Given the description of an element on the screen output the (x, y) to click on. 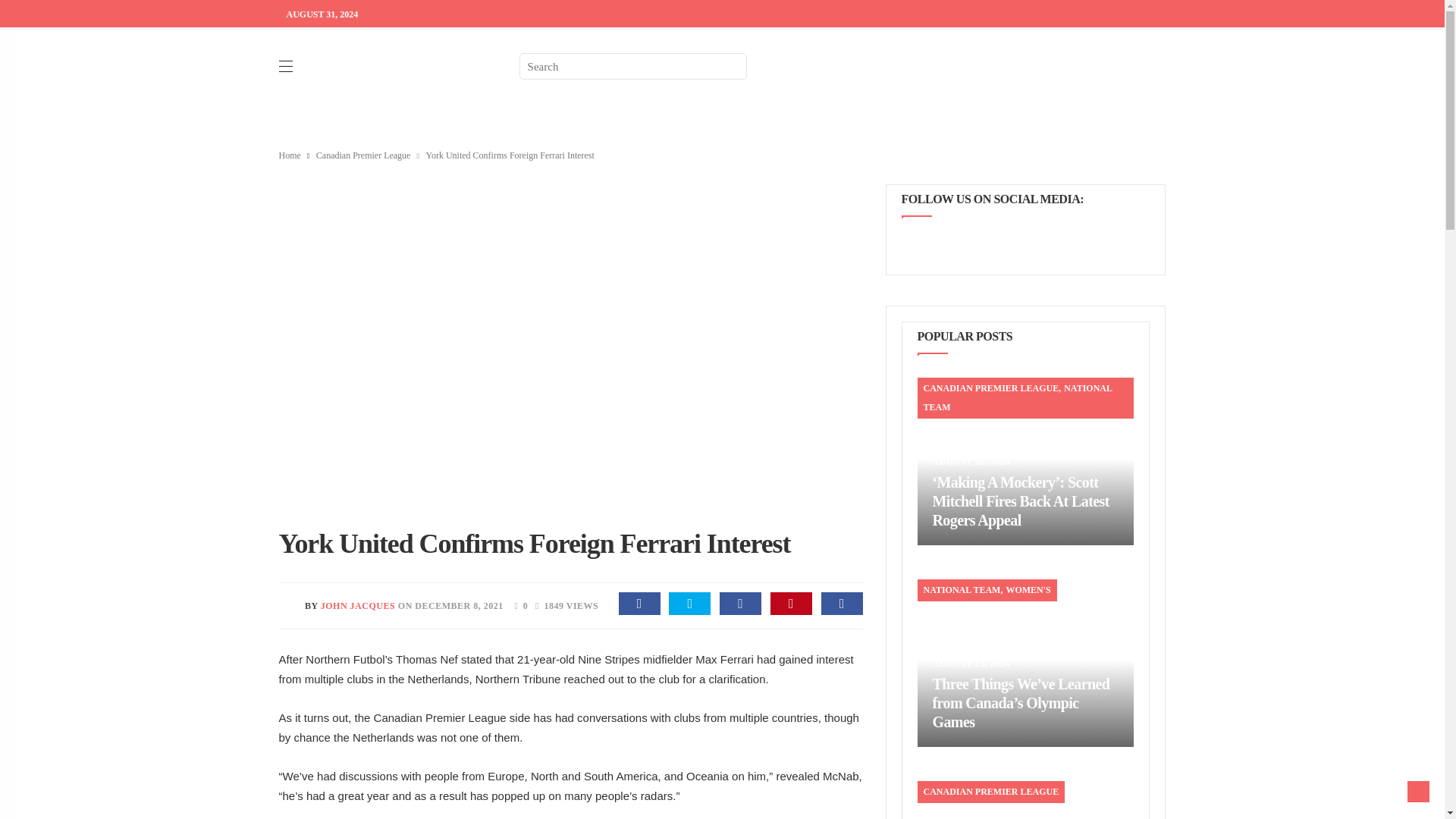
Home (290, 154)
Canadian Premier League (440, 717)
Canadian Premier League (362, 154)
Home (290, 154)
Thomas Nef (427, 658)
JOHN JACQUES (357, 605)
0 (516, 604)
